Given the description of an element on the screen output the (x, y) to click on. 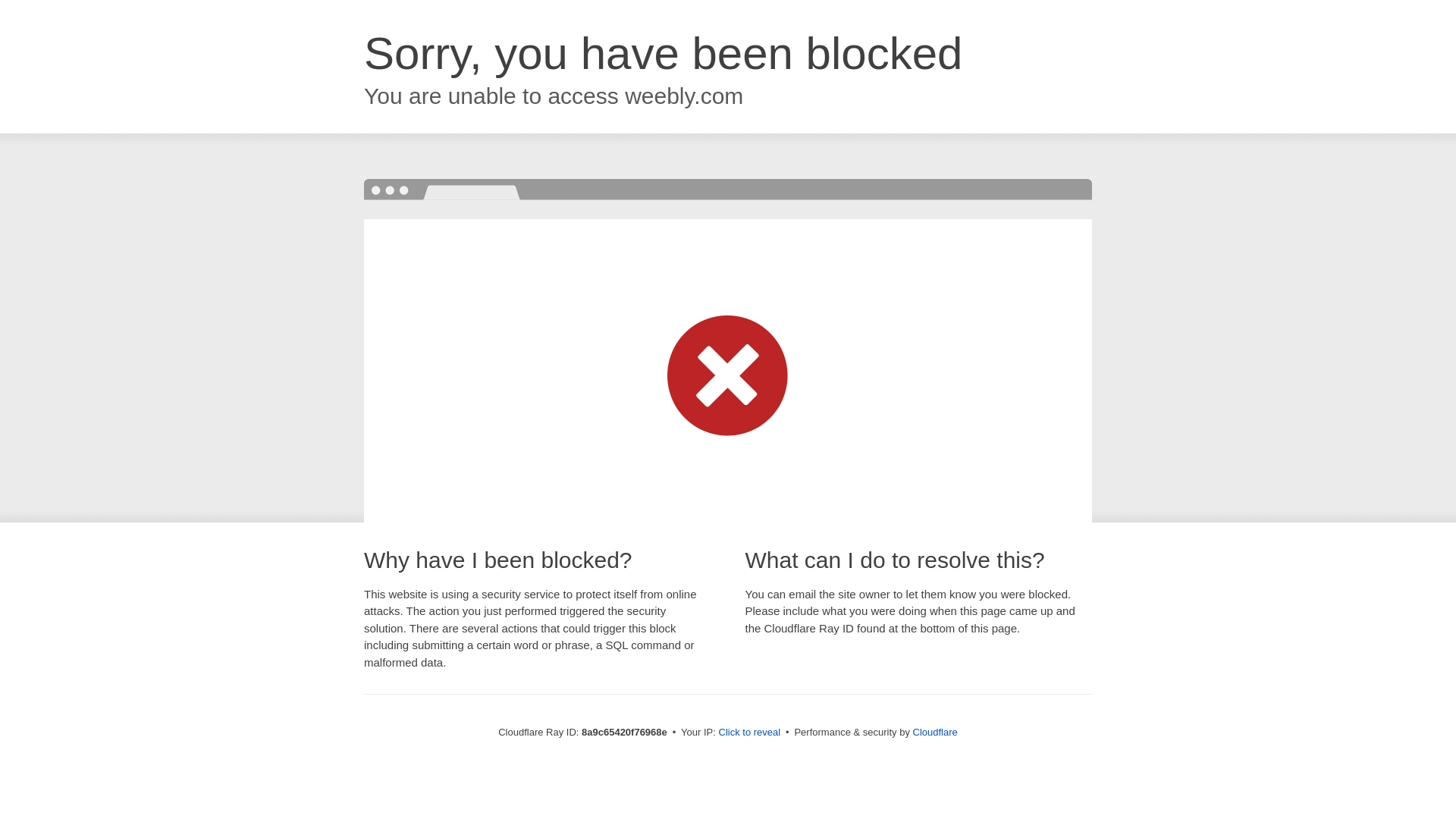
Click to reveal (749, 732)
Cloudflare (935, 731)
